Given the description of an element on the screen output the (x, y) to click on. 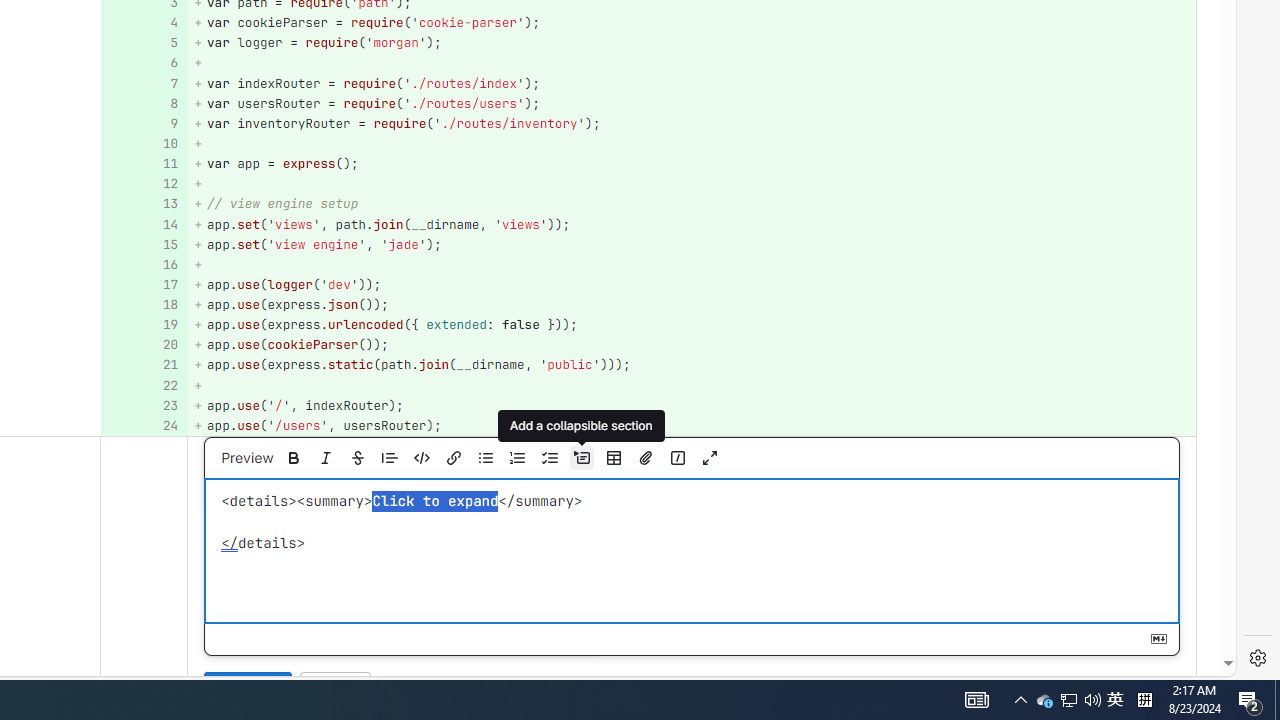
13 (141, 204)
+ app.set('views', path.join(__dirname, 'views'));  (691, 223)
Add a link (Ctrl+K) (453, 457)
10 (141, 143)
20 (141, 344)
15 (141, 244)
18 (141, 305)
Add a collapsible section (581, 457)
19 (141, 325)
Add a comment to this line 7 (144, 83)
5 (141, 43)
7 (141, 83)
Add a checklist (549, 457)
+ var app = express();  (691, 164)
